Given the description of an element on the screen output the (x, y) to click on. 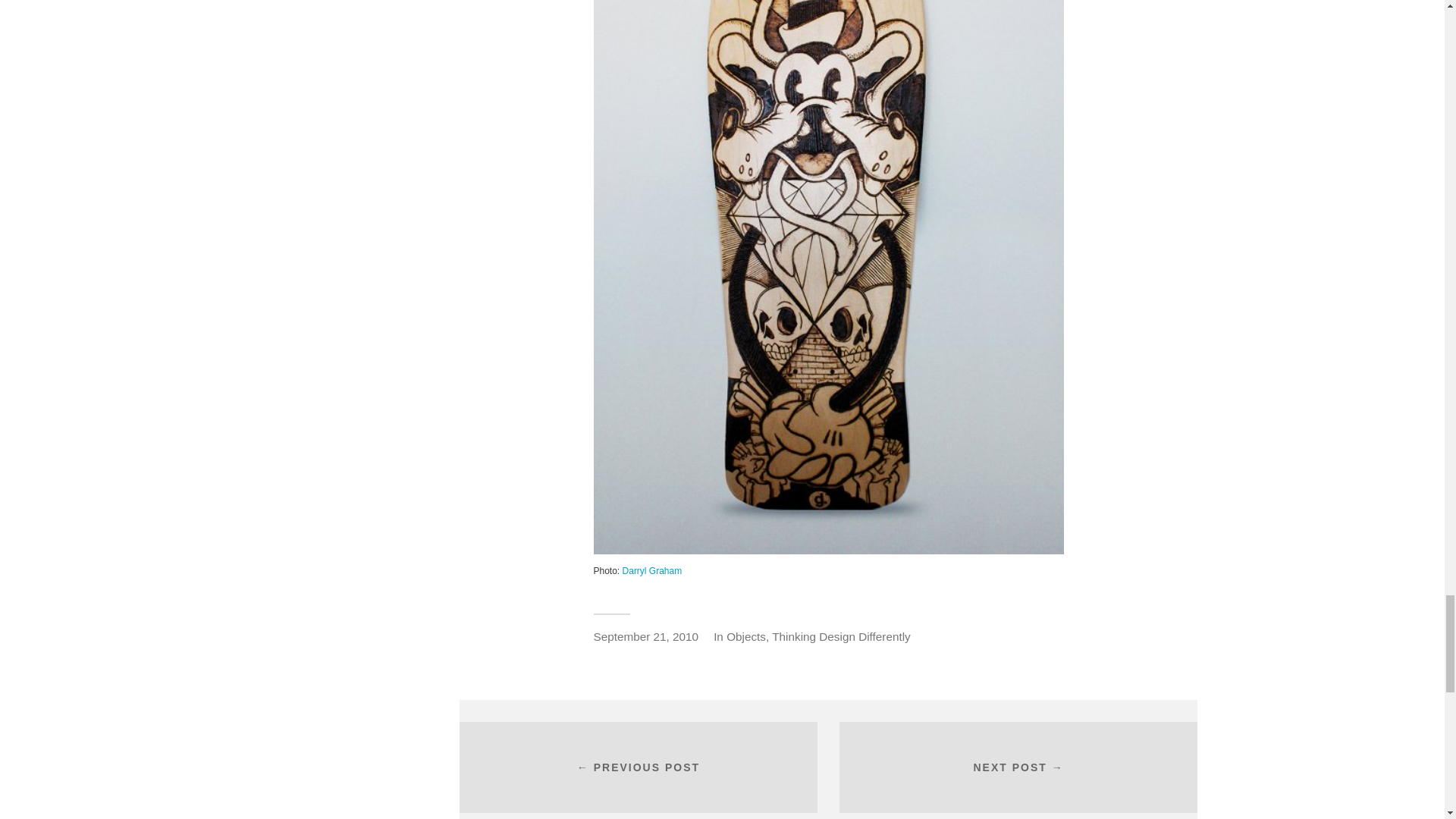
Darryl Graham (650, 570)
September 21, 2010 (645, 635)
Objects (745, 635)
Thinking Design Differently (841, 635)
